Given the description of an element on the screen output the (x, y) to click on. 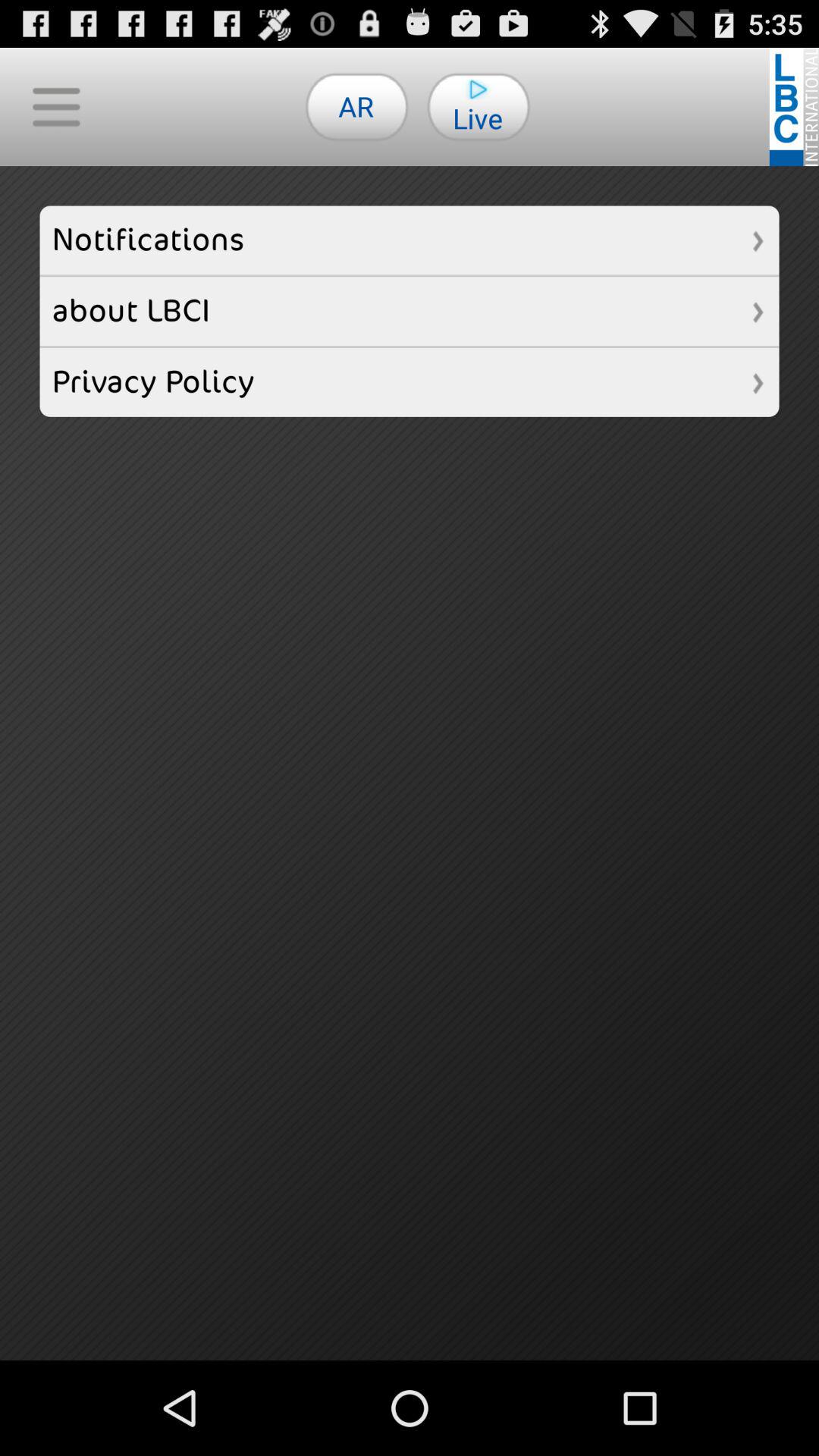
turn on the item above the notifications (356, 106)
